Given the description of an element on the screen output the (x, y) to click on. 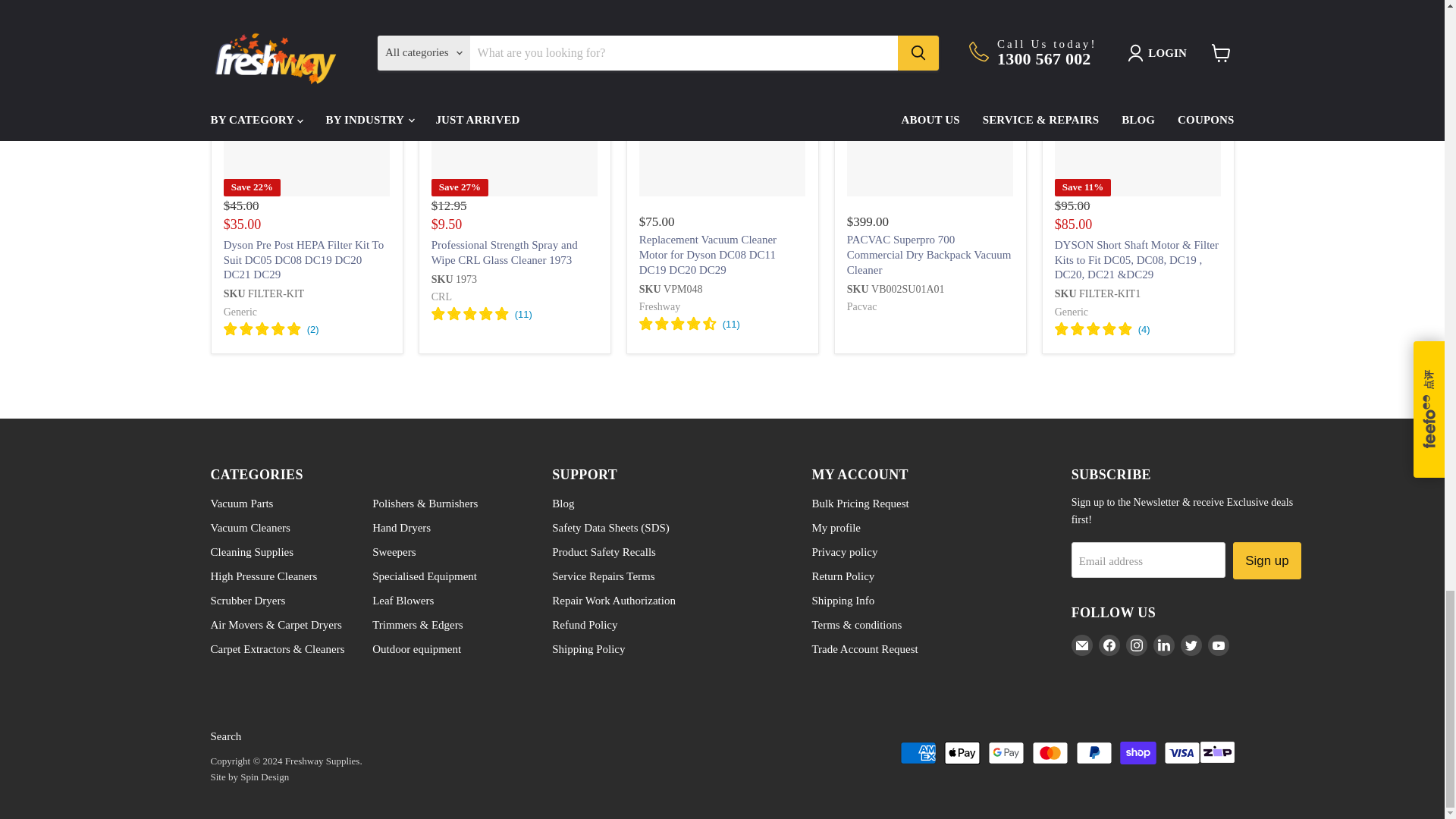
Facebook (1109, 645)
CRL (440, 296)
Generic (1070, 311)
Instagram (1136, 645)
LinkedIn (1163, 645)
Generic (240, 311)
Twitter (1191, 645)
YouTube (1218, 645)
Email (1082, 645)
Freshway (659, 306)
Pacvac (862, 306)
